Given the description of an element on the screen output the (x, y) to click on. 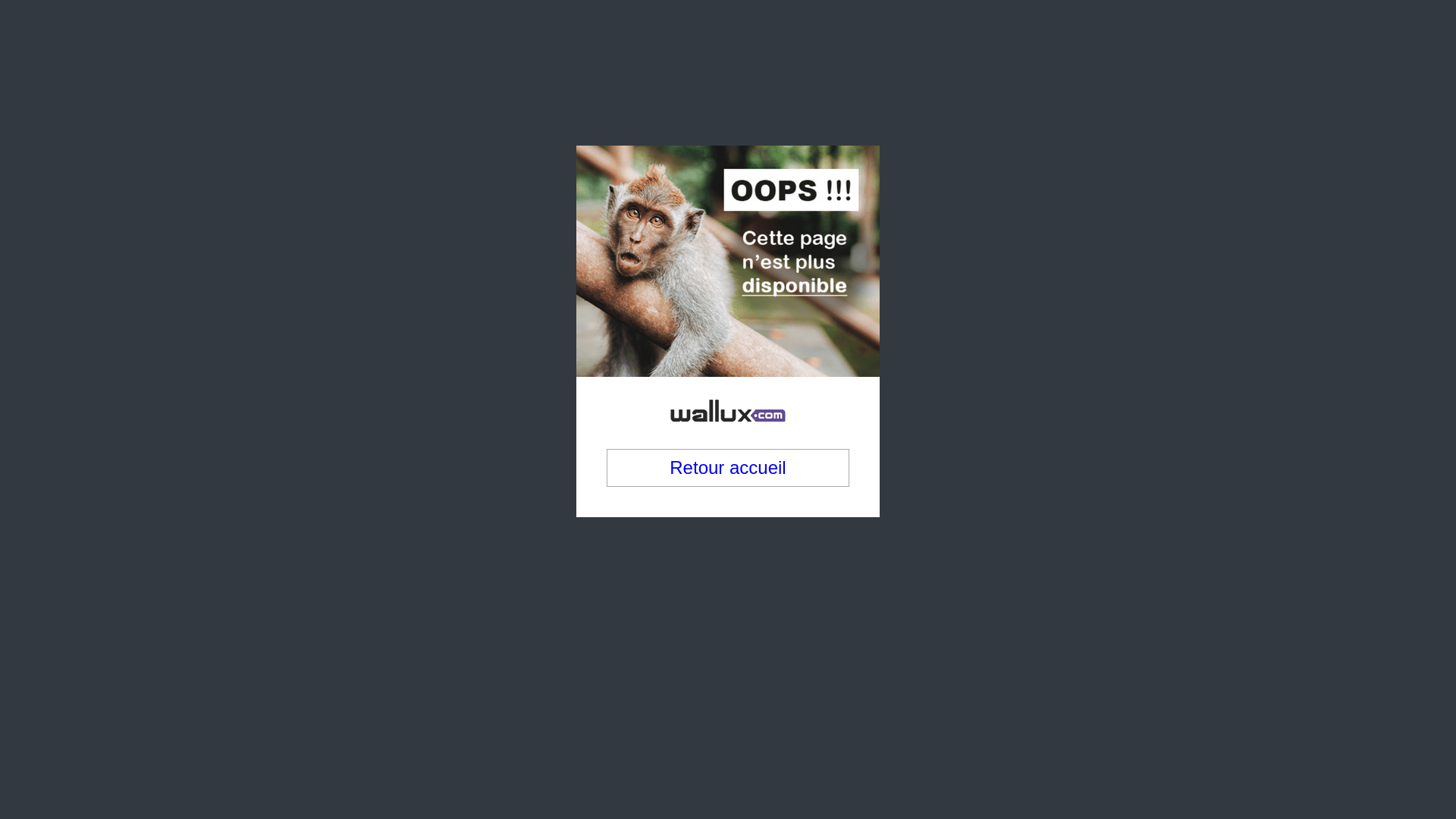
Retour accueil Element type: text (727, 385)
wallux.com Element type: hover (727, 296)
